Given the description of an element on the screen output the (x, y) to click on. 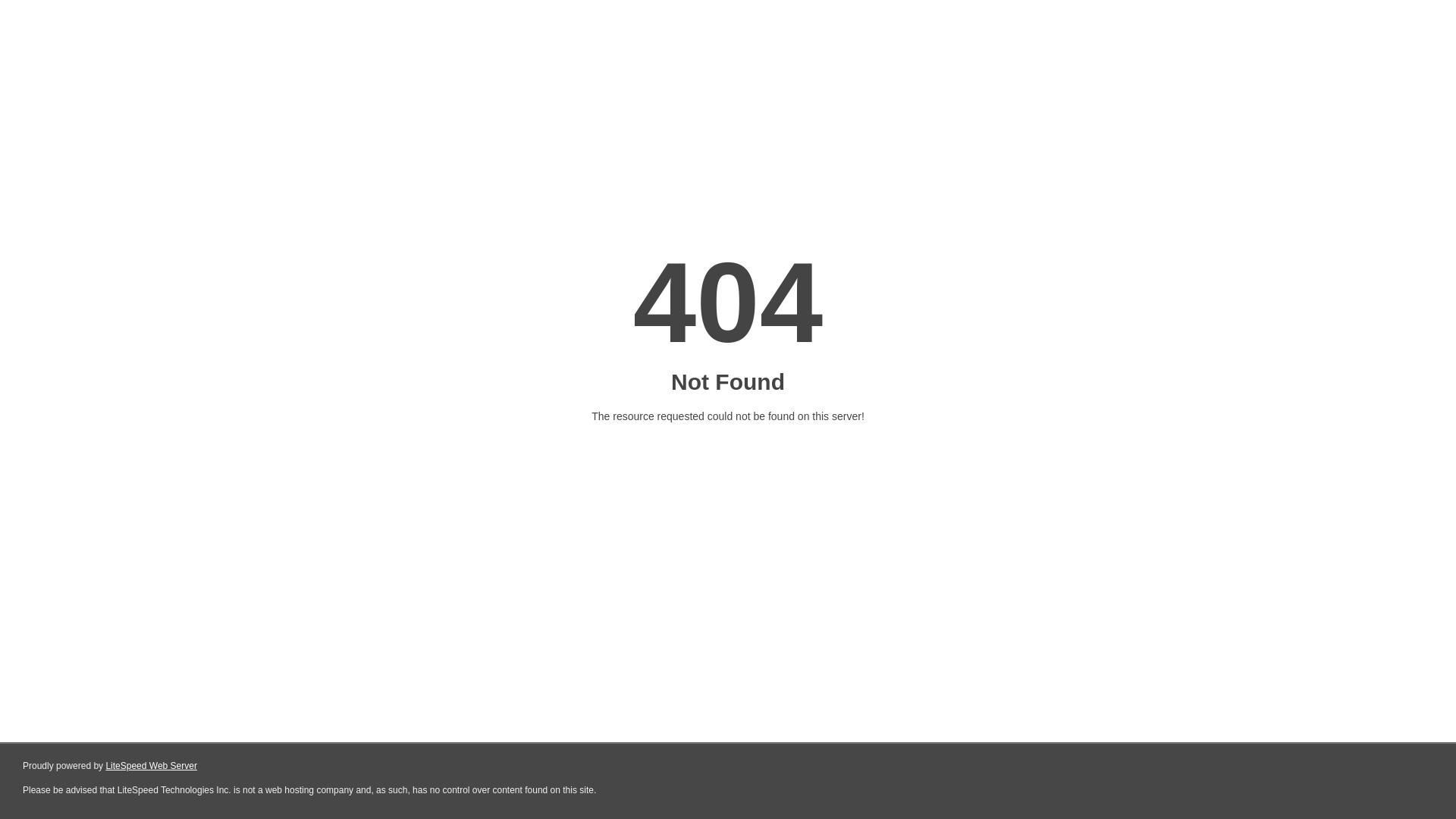
LiteSpeed Web Server Element type: text (151, 765)
